Given the description of an element on the screen output the (x, y) to click on. 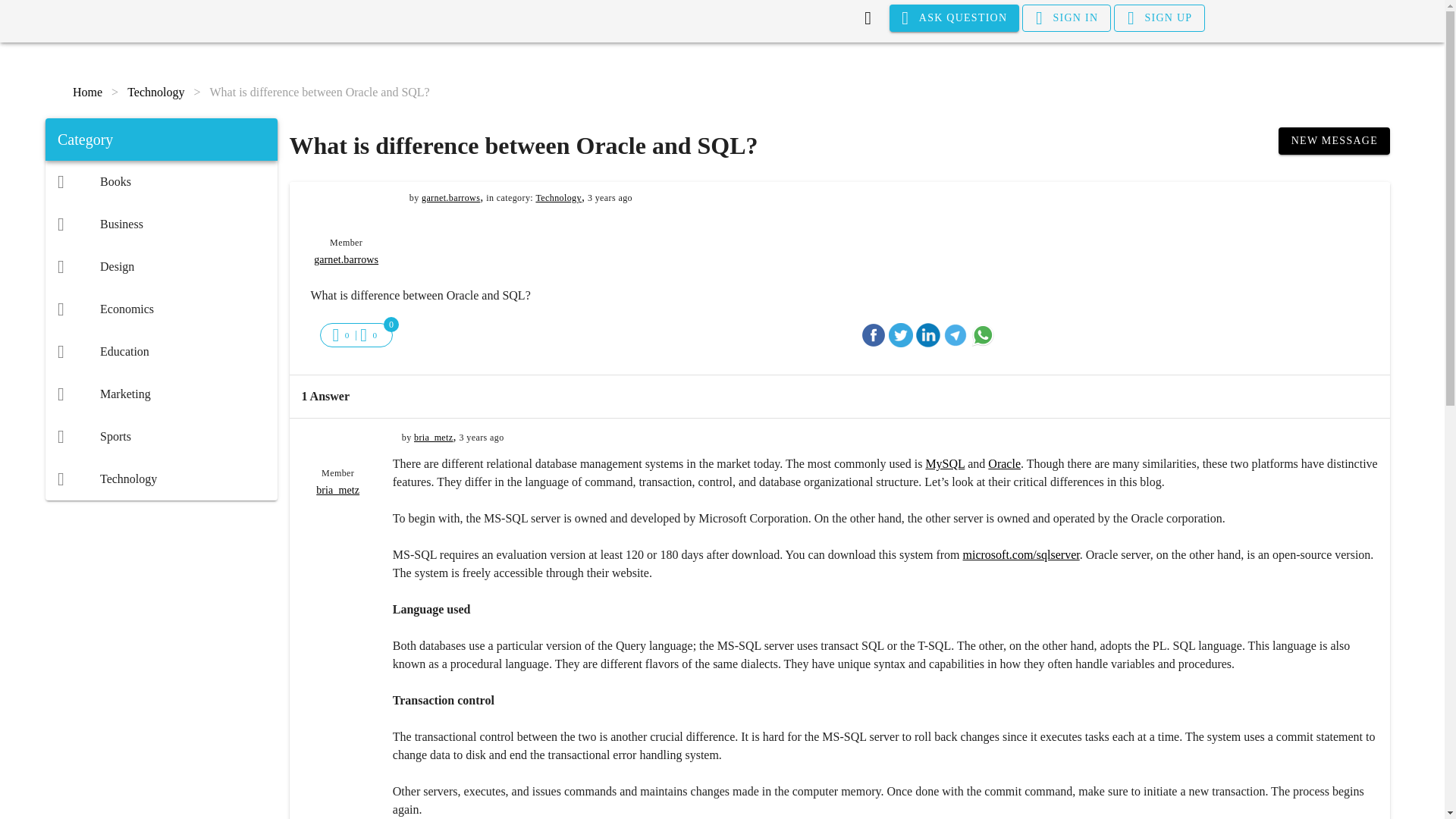
Education (161, 351)
Technology (557, 197)
Design (161, 266)
garnet.barrows (451, 197)
Marketing (161, 394)
Books (161, 181)
Technology (161, 478)
SIGN UP (1159, 17)
ASK QUESTION (954, 17)
SIGN IN (1066, 17)
